Given the description of an element on the screen output the (x, y) to click on. 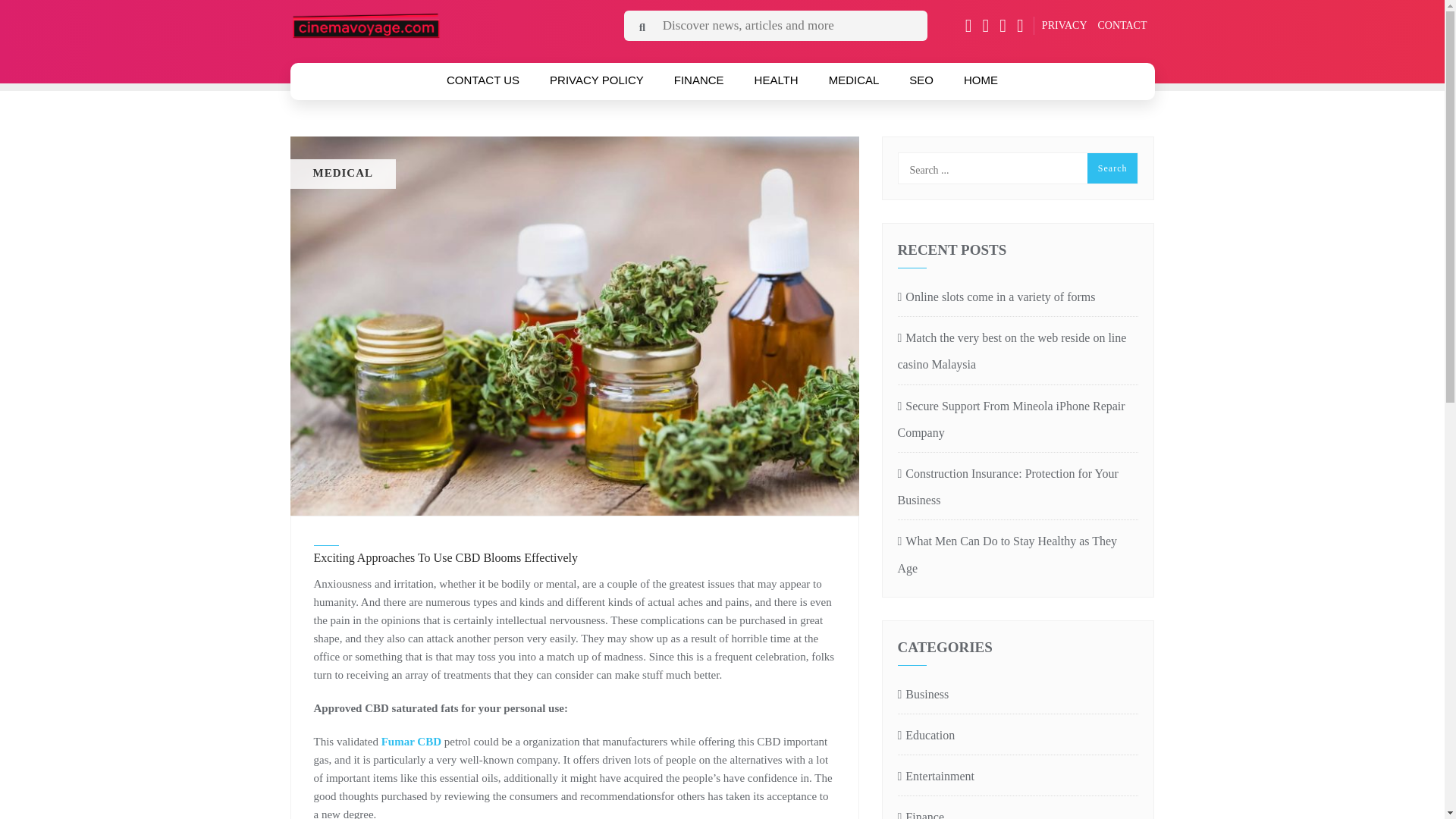
Secure Support From Mineola iPhone Repair Company (1018, 419)
Entertainment (936, 775)
Online slots come in a variety of forms (1018, 296)
MEDICAL (854, 80)
Search (1112, 168)
SEO (921, 80)
CONTACT (1122, 25)
Fumar CBD (411, 741)
Search (1112, 168)
